Given the description of an element on the screen output the (x, y) to click on. 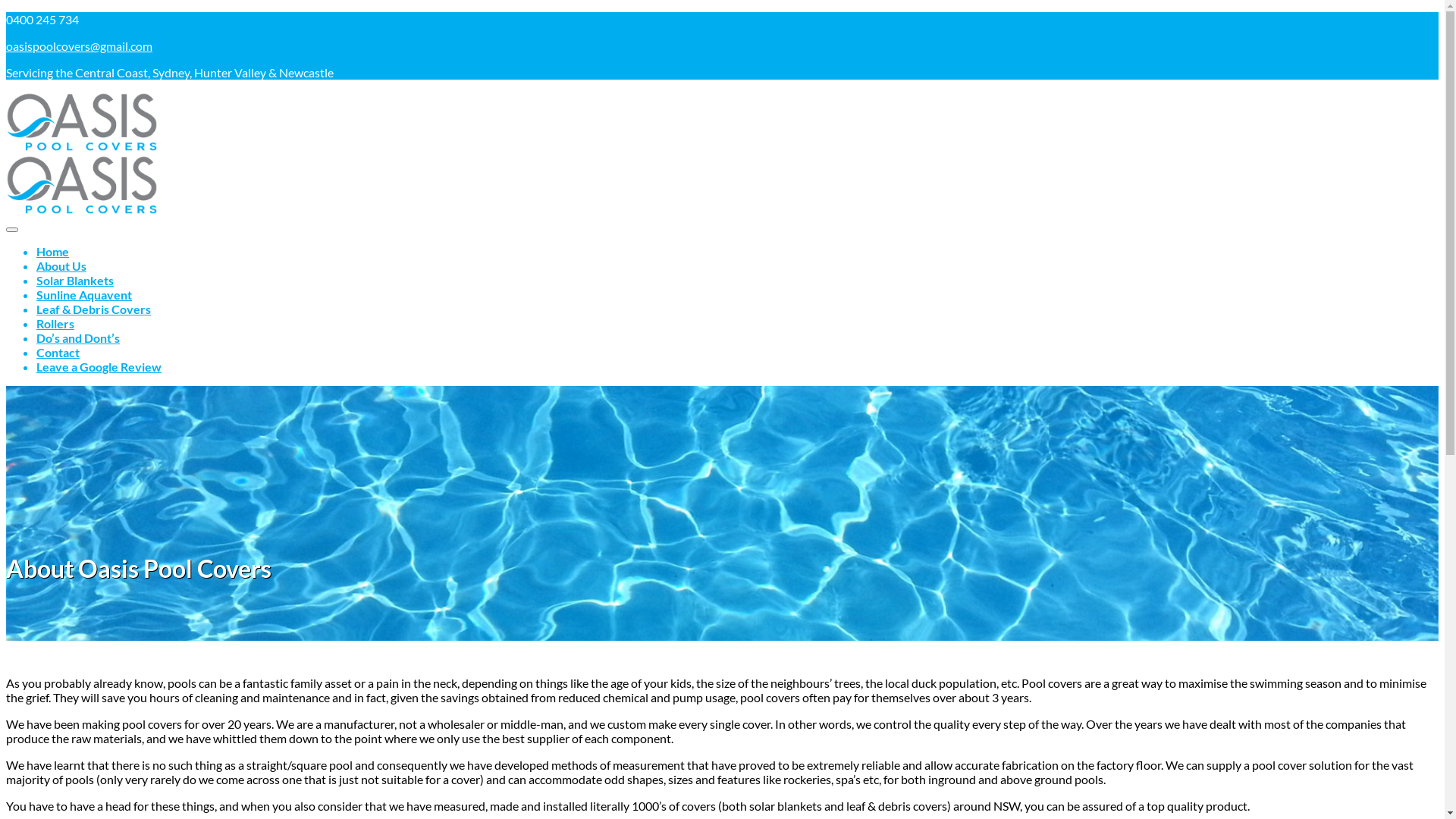
Sunline Aquavent Element type: text (83, 294)
Rollers Element type: text (55, 323)
Leave a Google Review Element type: text (98, 366)
About Us Element type: text (61, 265)
oasispoolcovers@gmail.com Element type: text (79, 45)
Contact Element type: text (57, 352)
Home Element type: text (52, 251)
Solar Blankets Element type: text (74, 280)
Leaf & Debris Covers Element type: text (93, 308)
